Given the description of an element on the screen output the (x, y) to click on. 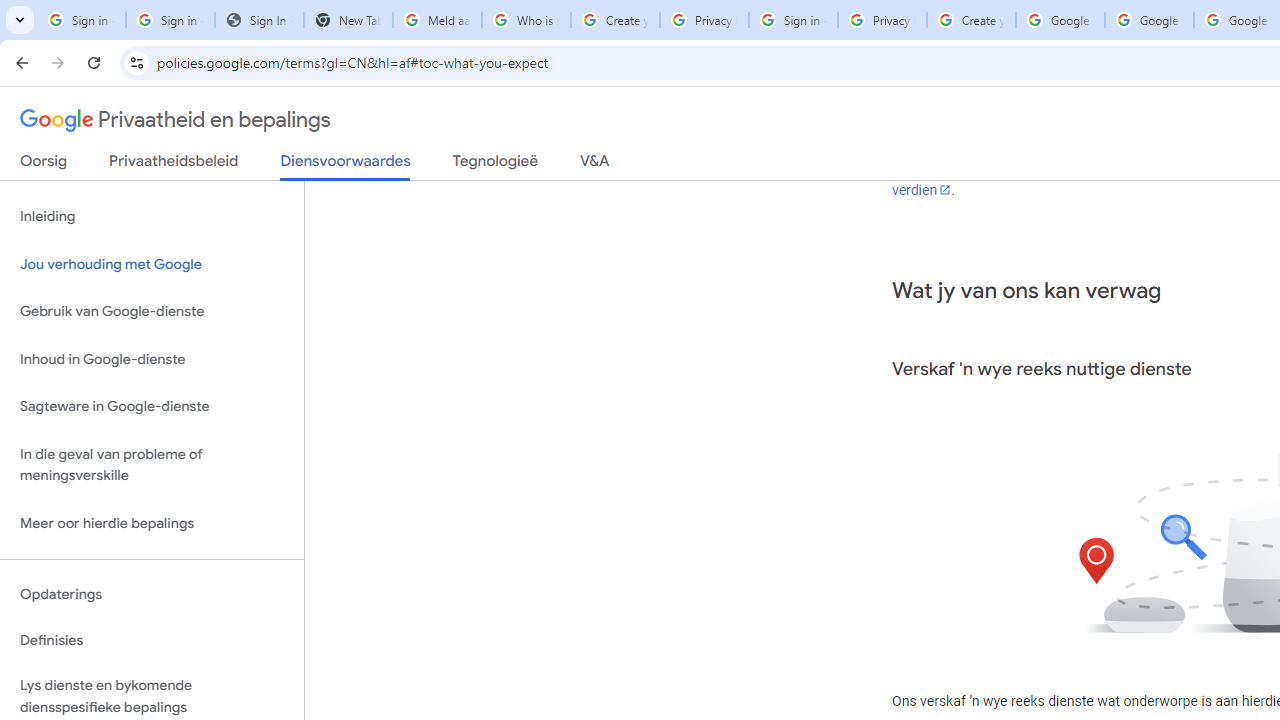
Create your Google Account (971, 20)
Privaatheidsbeleid (173, 165)
Privaatheid en bepalings (175, 120)
Sagteware in Google-dienste (152, 407)
In die geval van probleme of meningsverskille (152, 464)
Create your Google Account (615, 20)
V&A (594, 165)
Inleiding (152, 216)
Diensvoorwaardes (345, 166)
Oorsig (43, 165)
